Given the description of an element on the screen output the (x, y) to click on. 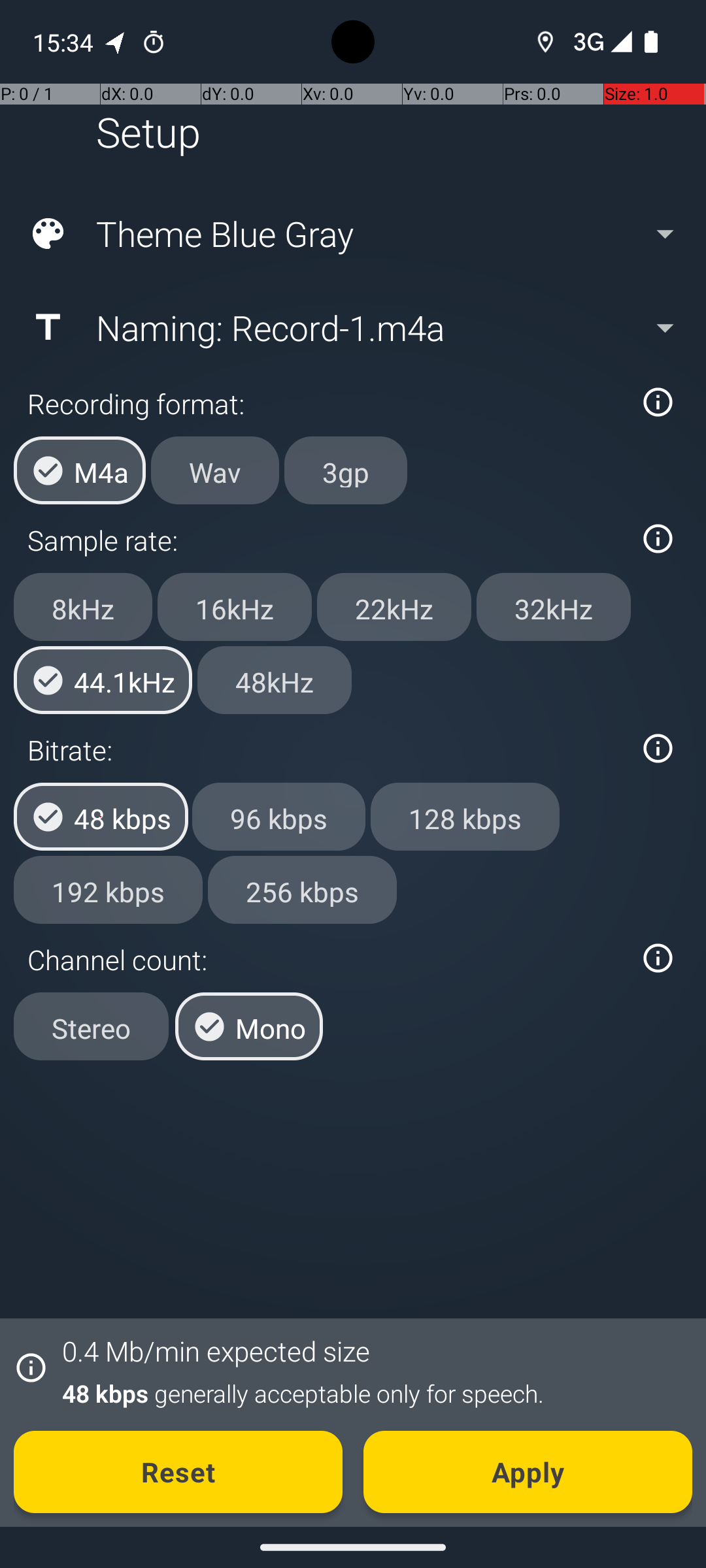
0.4 Mb/min expected size Element type: android.widget.TextView (215, 1350)
48 kbps generally acceptable only for speech. Element type: android.widget.TextView (370, 1392)
3G Element type: android.widget.ImageView (587, 41)
